Given the description of an element on the screen output the (x, y) to click on. 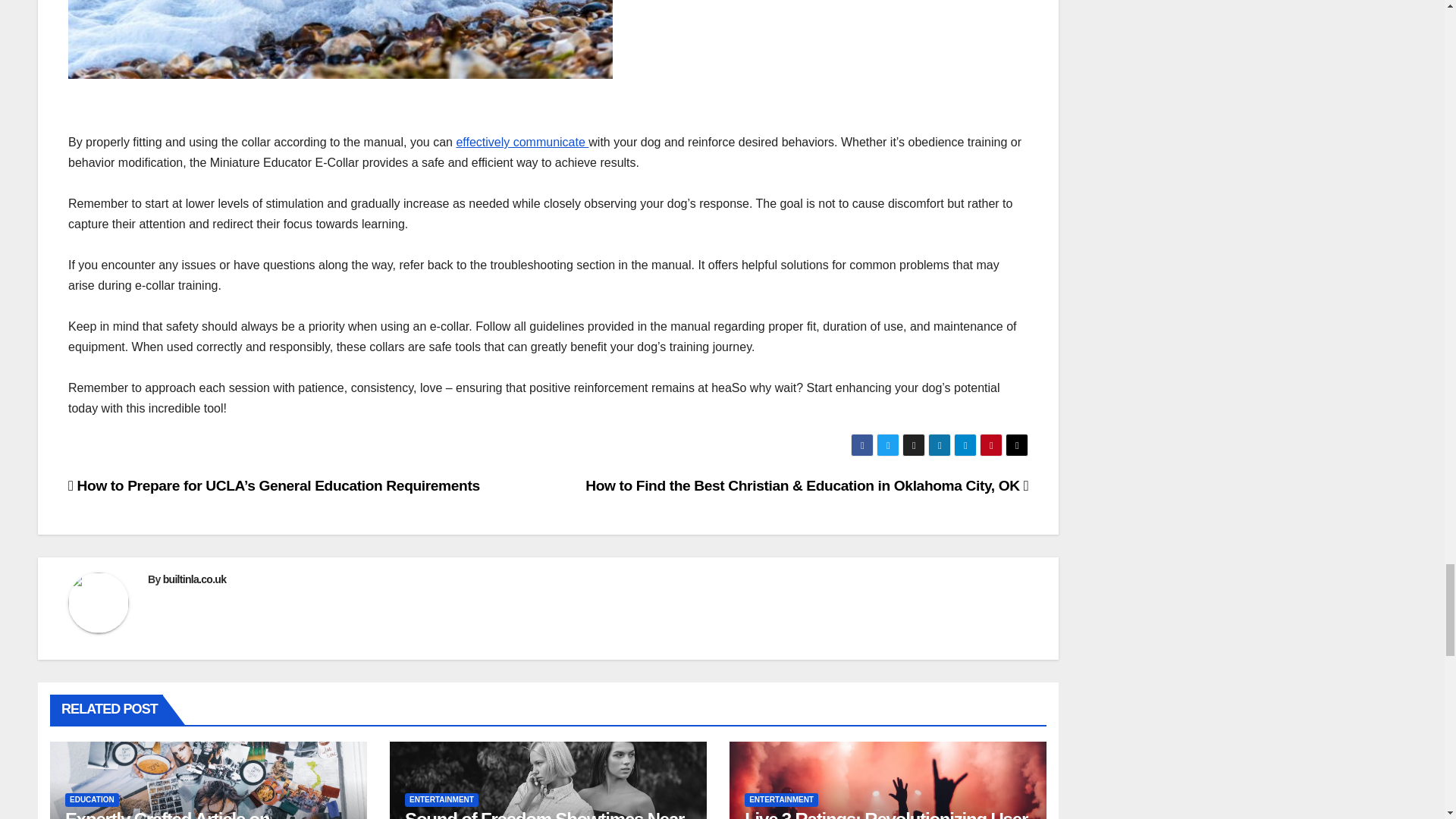
effectively communicate (521, 141)
